Given the description of an element on the screen output the (x, y) to click on. 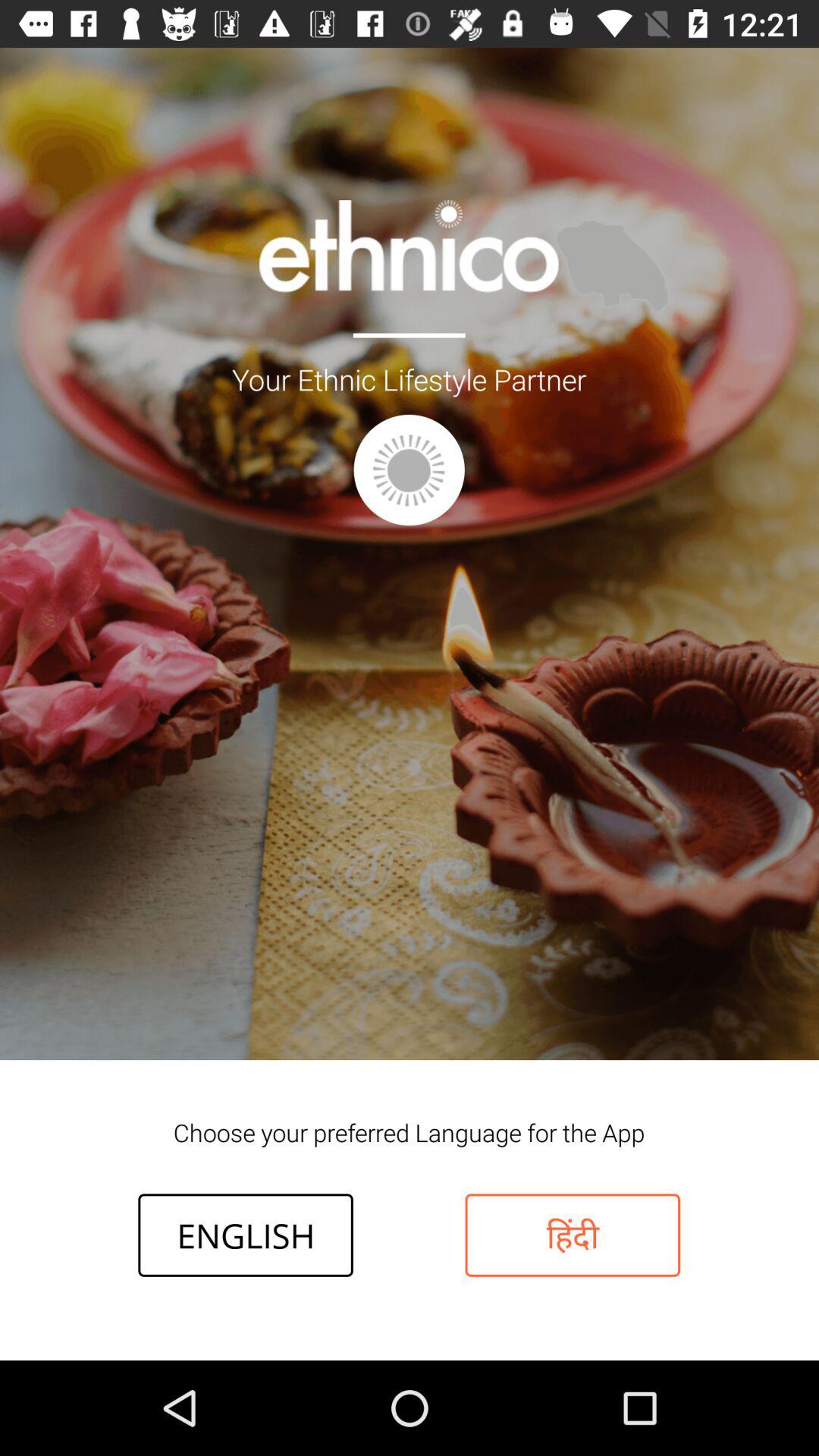
press item below choose your preferred icon (572, 1234)
